Given the description of an element on the screen output the (x, y) to click on. 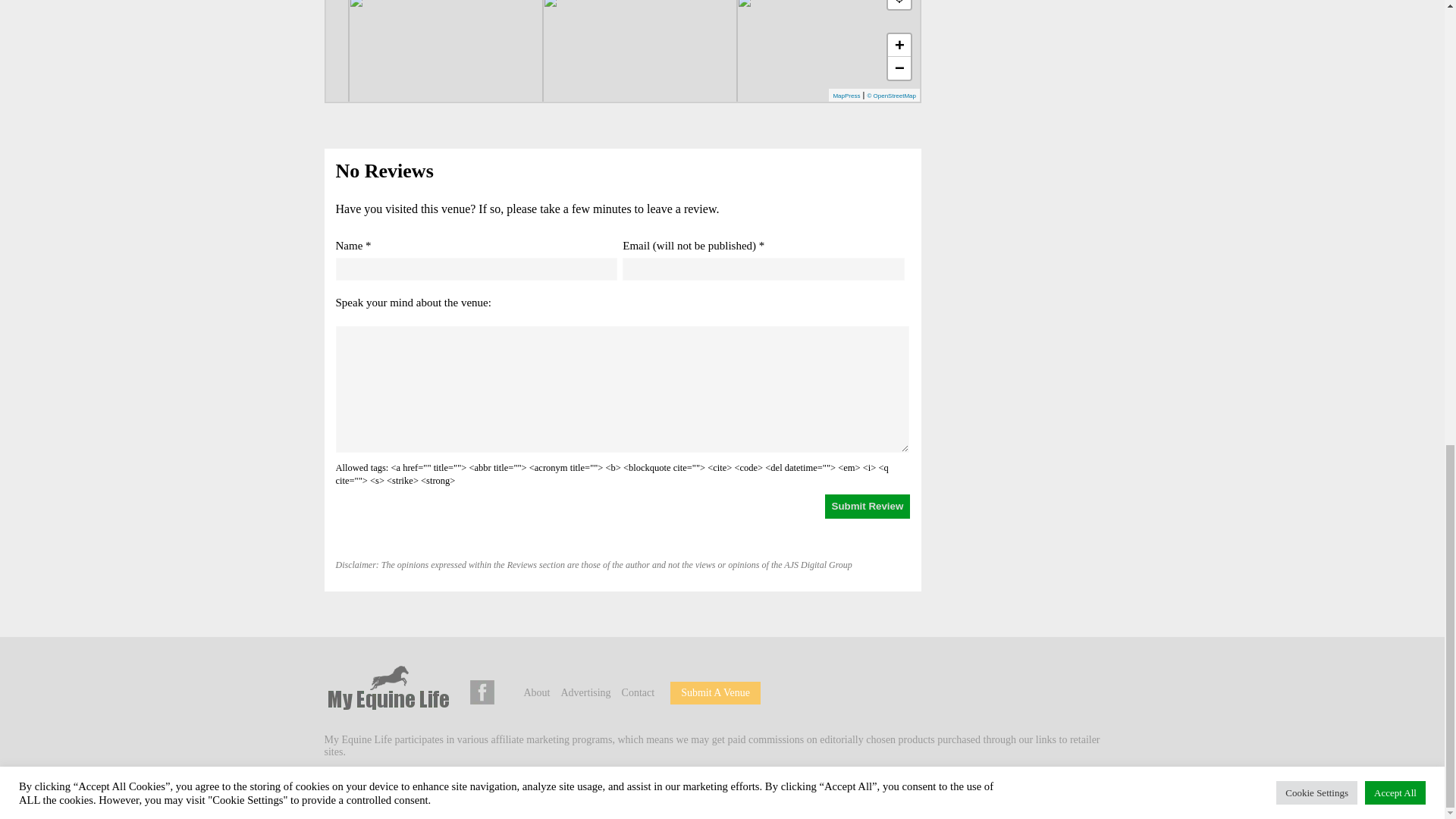
Advertising (585, 692)
Submit Review (867, 506)
AJS Digital Group (430, 787)
Submit Review (867, 506)
About (536, 692)
Submit A Venue (715, 692)
MapPress (846, 95)
Terms of Use (597, 787)
Your Location (899, 5)
Contact (638, 692)
